Given the description of an element on the screen output the (x, y) to click on. 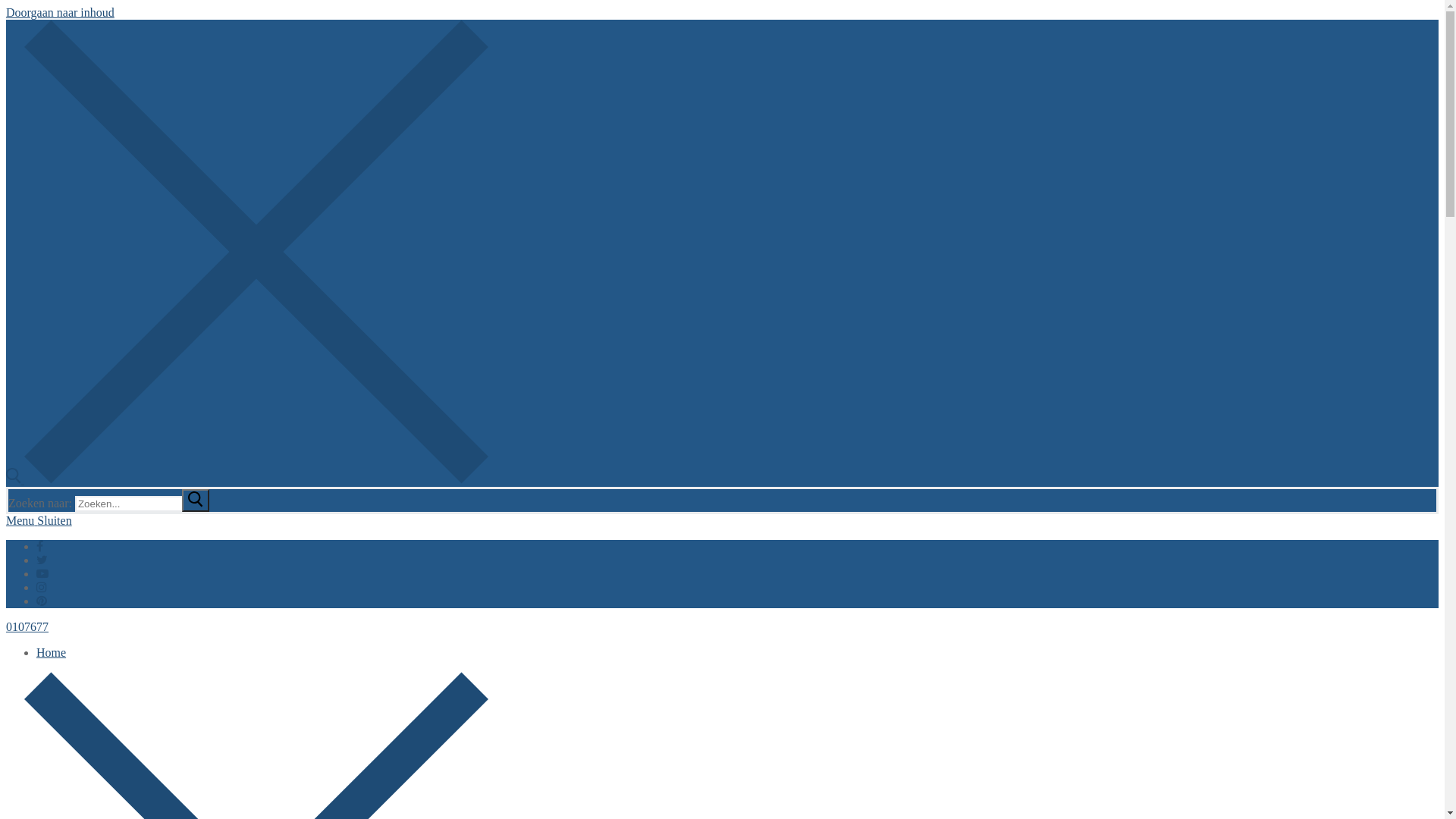
Twitter Element type: hover (41, 559)
Pinterest Element type: hover (41, 600)
Facebook Element type: hover (39, 545)
Youtube Element type: hover (42, 573)
Zoeken naar: Element type: hover (142, 503)
Home Element type: text (50, 652)
Menu Sluiten Element type: text (39, 520)
0107677 Element type: text (27, 626)
Instagram Element type: hover (41, 586)
Doorgaan naar inhoud Element type: text (60, 12)
